Given the description of an element on the screen output the (x, y) to click on. 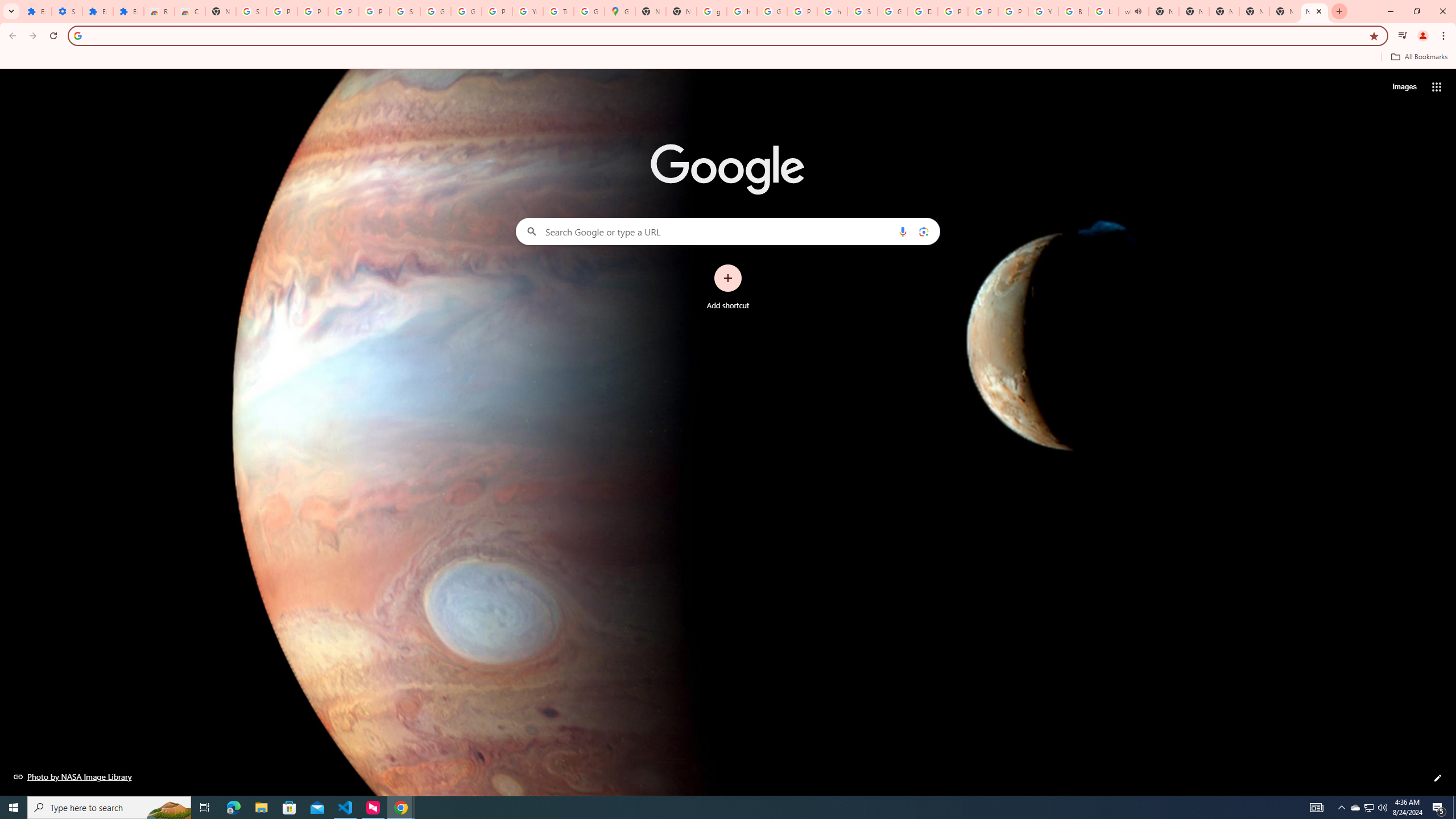
Extensions (127, 11)
Extensions (97, 11)
Search by voice (902, 230)
https://scholar.google.com/ (741, 11)
Search for Images  (1403, 87)
All Bookmarks (1418, 56)
Search Google or type a URL (727, 230)
Google Maps (619, 11)
Reviews: Helix Fruit Jump Arcade Game (158, 11)
